Given the description of an element on the screen output the (x, y) to click on. 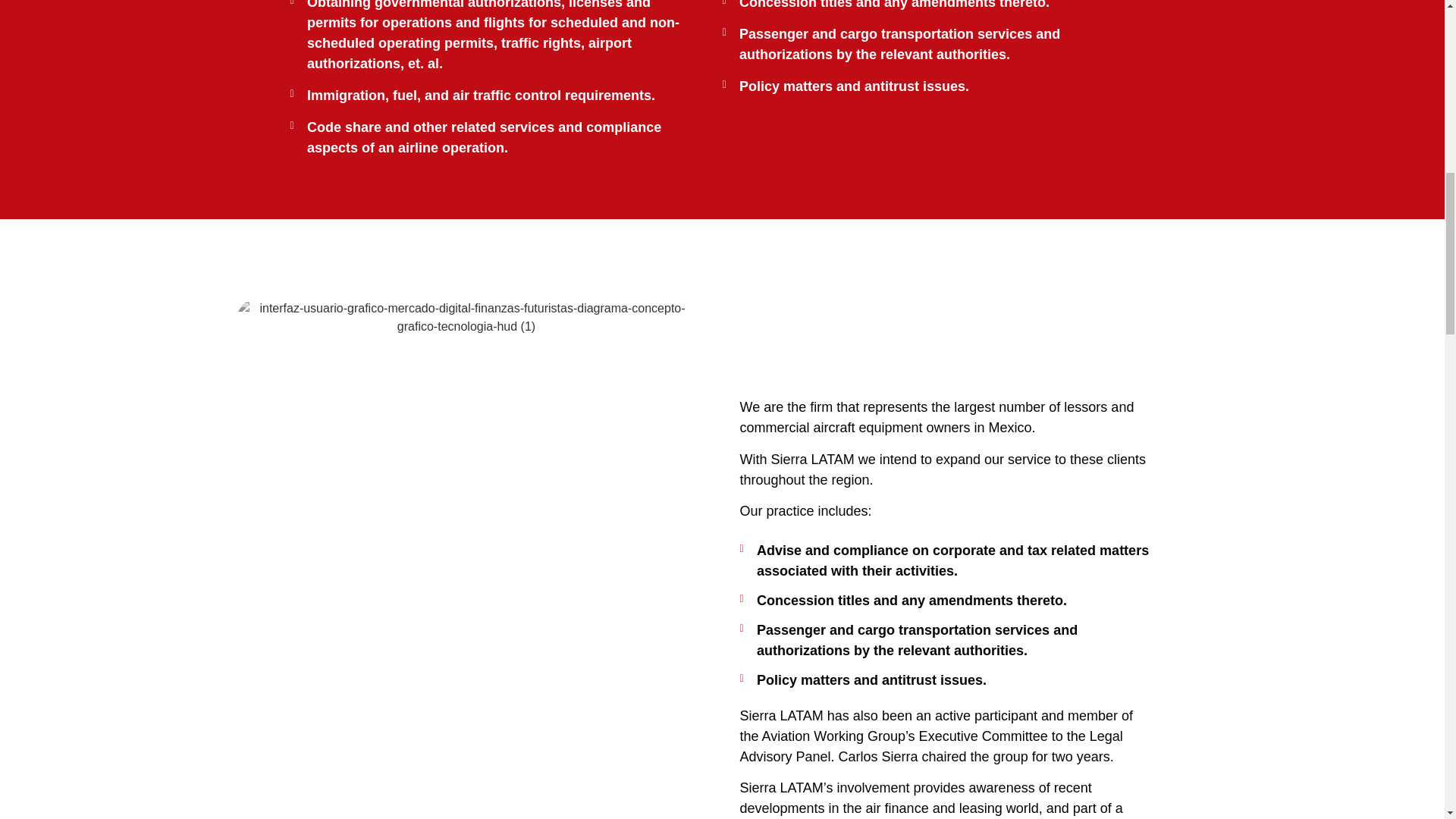
Page 7 (946, 459)
Page 7 (946, 762)
